Given the description of an element on the screen output the (x, y) to click on. 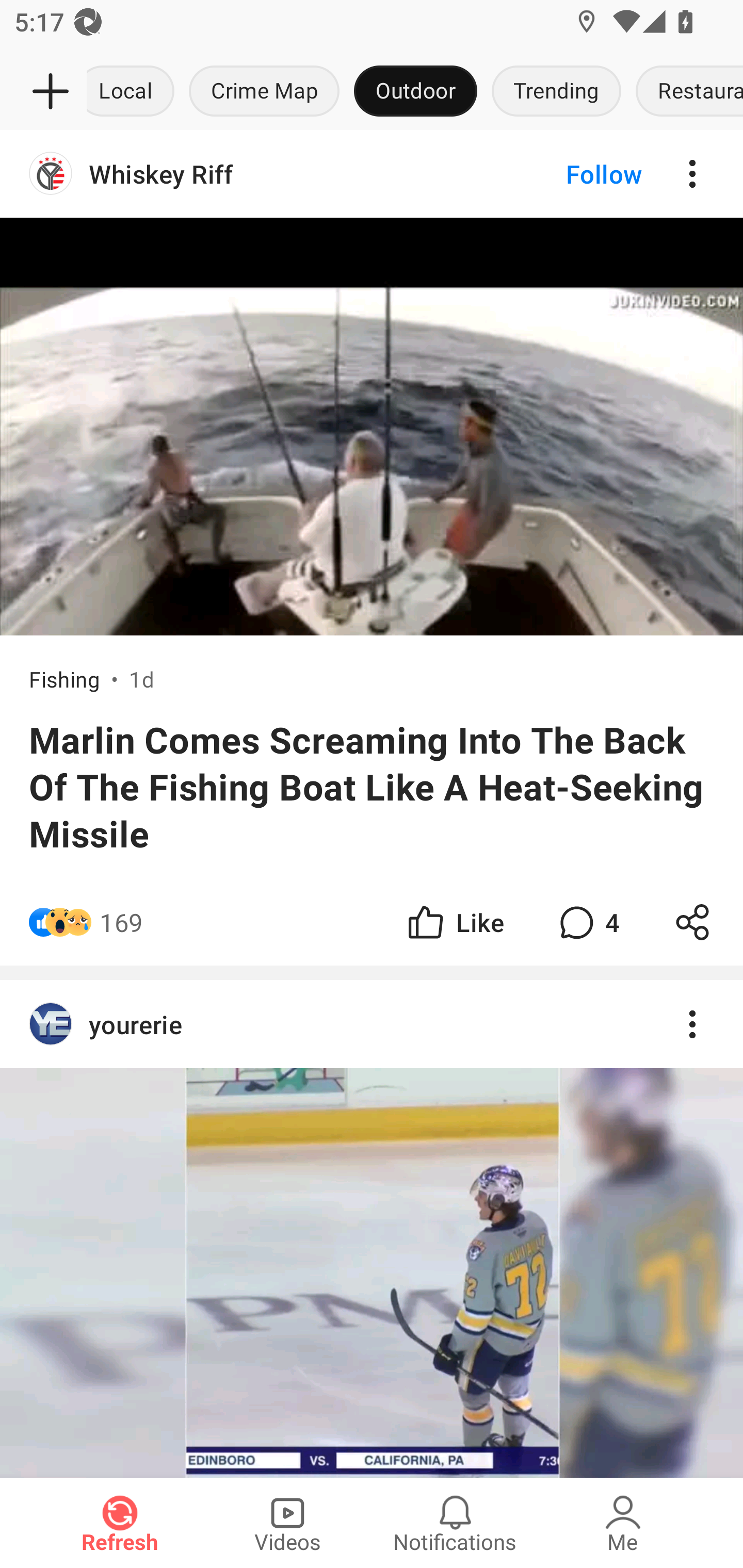
Local (133, 91)
Crime Map (263, 91)
Outdoor (415, 91)
Trending (556, 91)
Whiskey Riff Follow (371, 173)
Follow (569, 173)
169 (121, 922)
Like (454, 922)
4 (587, 922)
yourerie (371, 1228)
yourerie (371, 1023)
Videos (287, 1522)
Notifications (455, 1522)
Me (622, 1522)
